Given the description of an element on the screen output the (x, y) to click on. 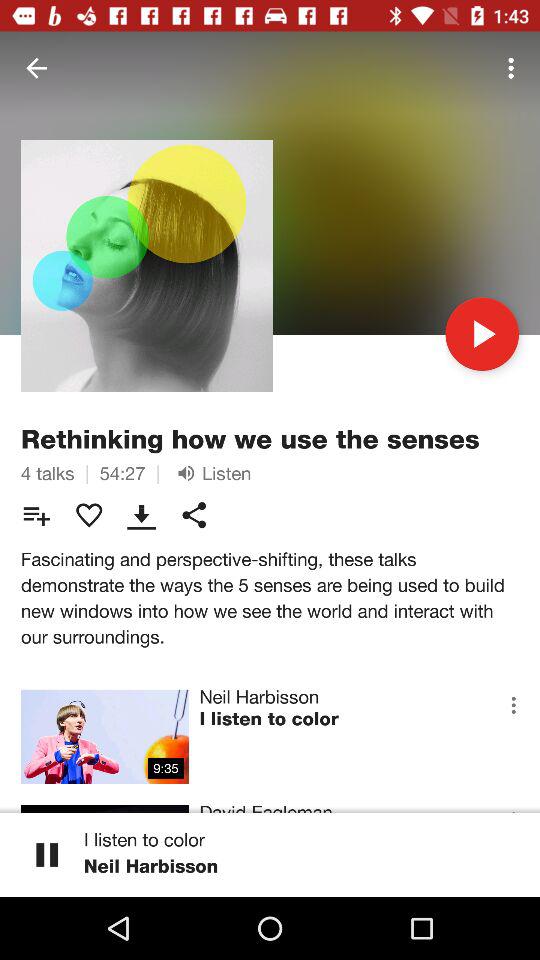
click fascinating and perspective item (270, 597)
